Given the description of an element on the screen output the (x, y) to click on. 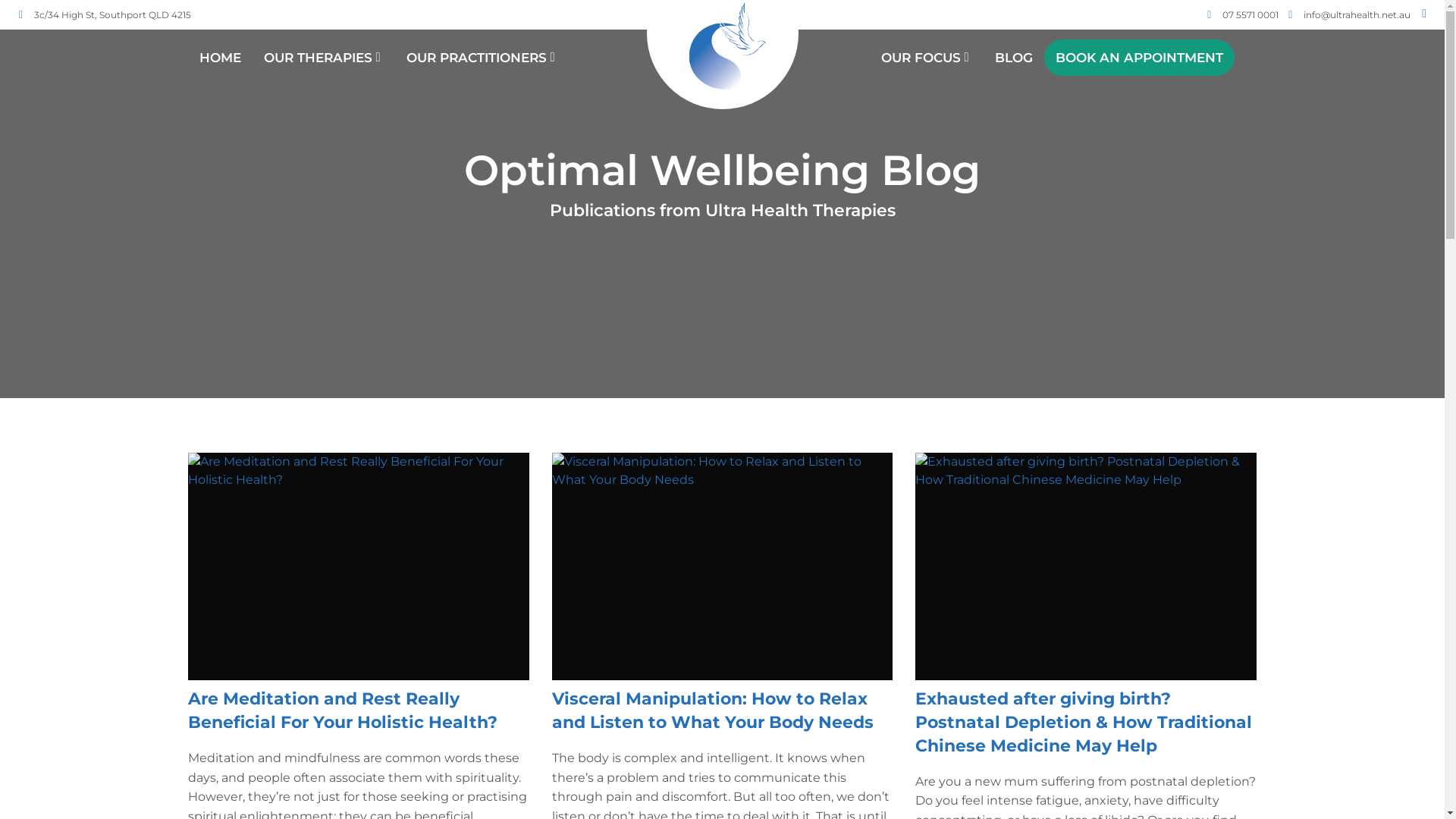
HOME Element type: text (219, 57)
info@ultrahealth.net.au Element type: text (1356, 14)
BOOK AN APPOINTMENT Element type: text (1139, 57)
OUR PRACTITIONERS Element type: text (482, 57)
07 5571 0001 Element type: text (1250, 14)
OUR FOCUS Element type: text (926, 57)
OUR THERAPIES Element type: text (323, 57)
Facebook Element type: text (1425, 13)
BLOG Element type: text (1013, 57)
